Given the description of an element on the screen output the (x, y) to click on. 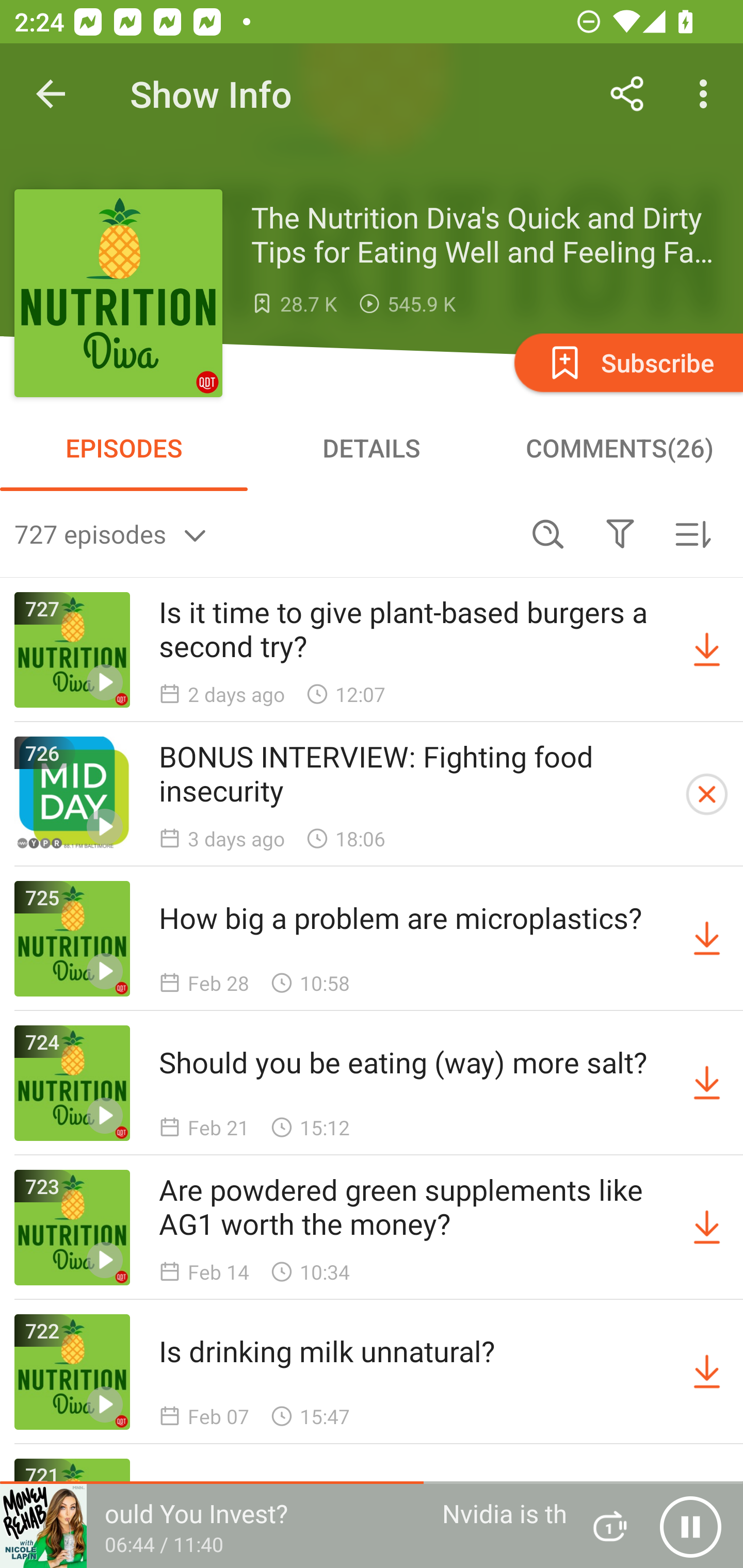
Navigate up (50, 93)
Share (626, 93)
More options (706, 93)
Subscribe (627, 361)
EPISODES (123, 447)
DETAILS (371, 447)
COMMENTS(26) (619, 447)
727 episodes  (262, 533)
 Search (547, 533)
 (619, 533)
 Sorted by newest first (692, 533)
Download (706, 649)
Cancel Downloading (706, 793)
Download (706, 939)
Download (706, 1083)
Download (706, 1227)
Download (706, 1371)
Pause (690, 1526)
